Given the description of an element on the screen output the (x, y) to click on. 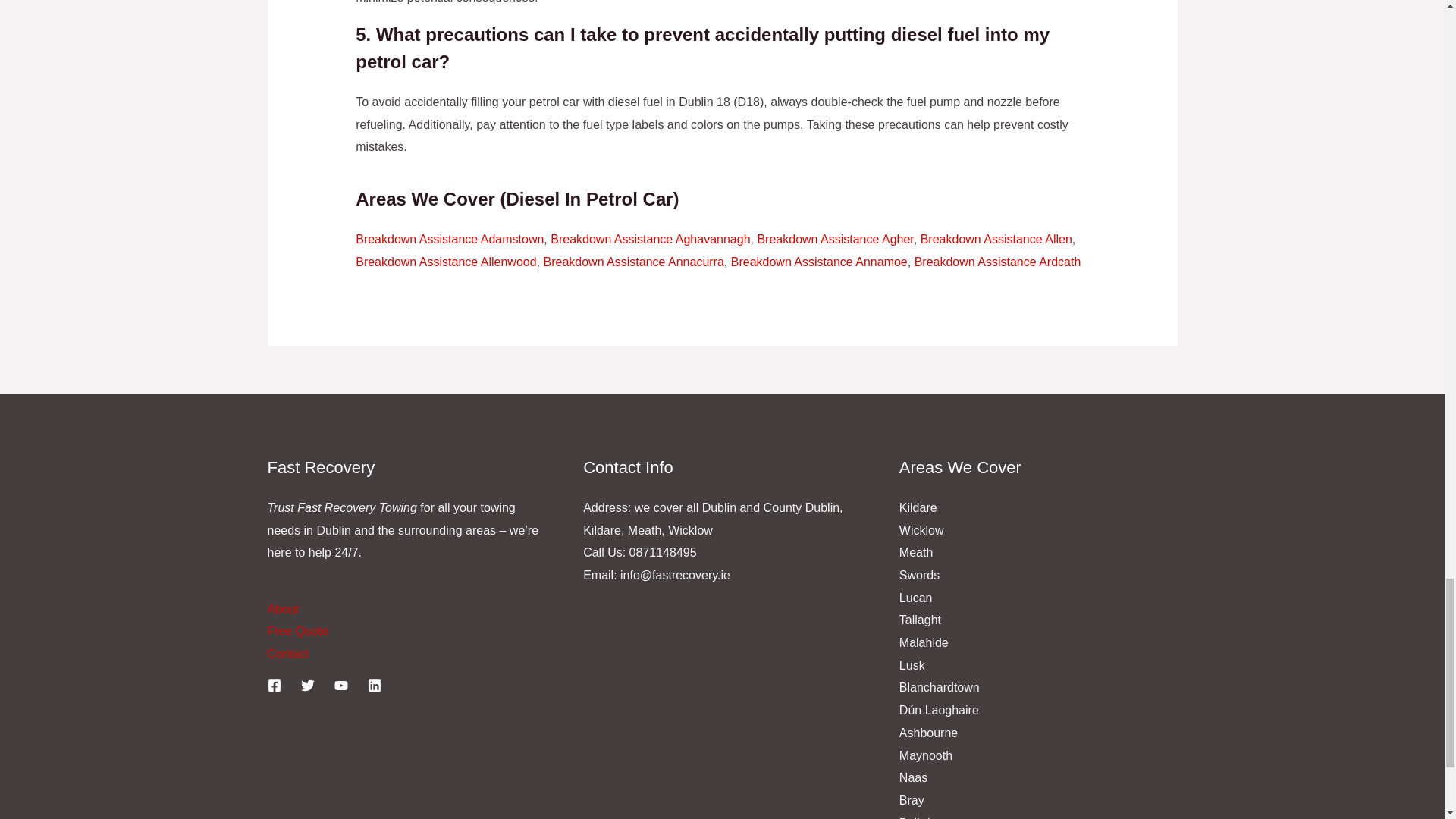
Breakdown Assistance Allen (995, 238)
Breakdown Assistance Annacurra (633, 261)
Breakdown Assistance Annamoe (818, 261)
Breakdown Assistance Ardcath (997, 261)
Breakdown Assistance Aghavannagh (649, 238)
Breakdown Assistance Allenwood (445, 261)
Breakdown Assistance Agher (834, 238)
Breakdown Assistance Adamstown (449, 238)
